Given the description of an element on the screen output the (x, y) to click on. 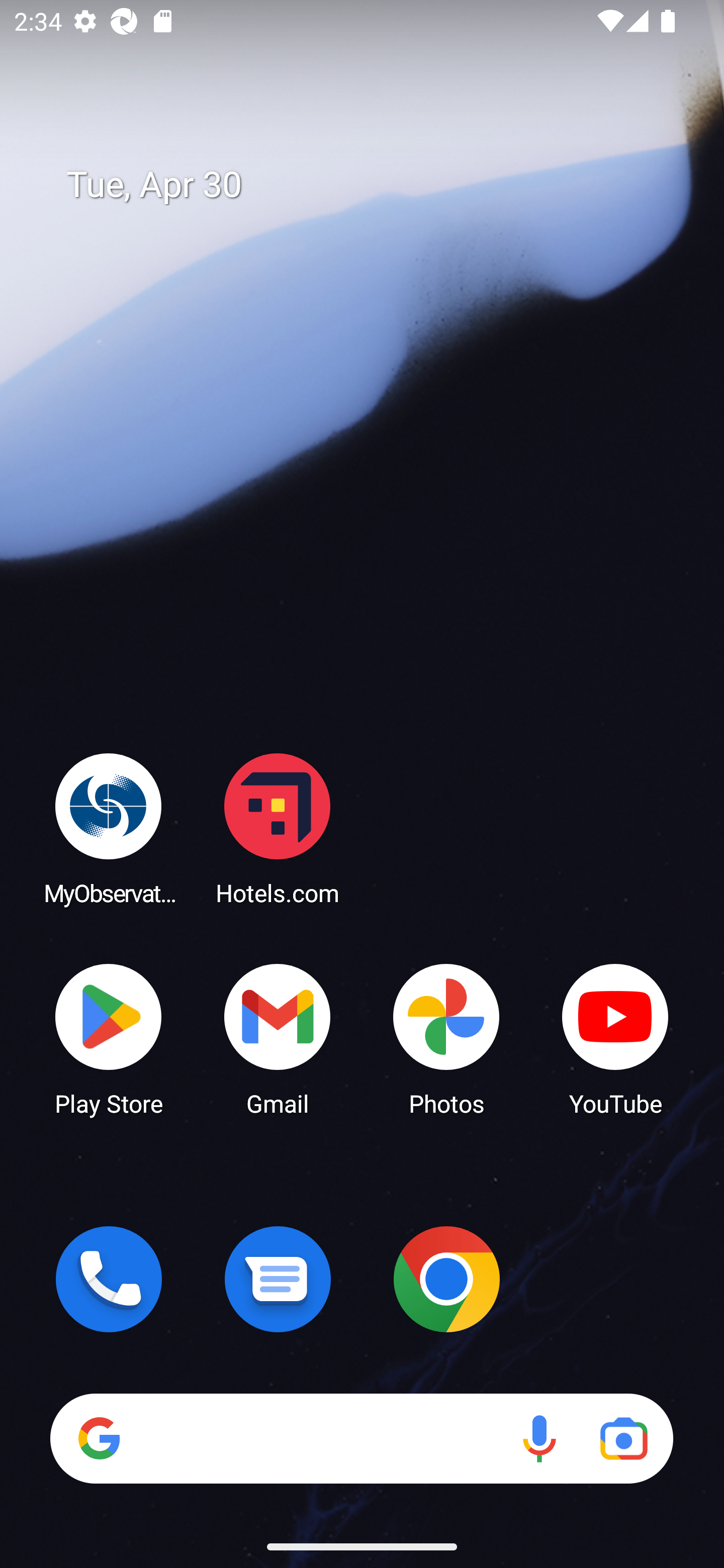
Tue, Apr 30 (375, 184)
MyObservatory (108, 828)
Hotels.com (277, 828)
Play Store (108, 1038)
Gmail (277, 1038)
Photos (445, 1038)
YouTube (615, 1038)
Phone (108, 1279)
Messages (277, 1279)
Chrome (446, 1279)
Voice search (539, 1438)
Google Lens (623, 1438)
